Given the description of an element on the screen output the (x, y) to click on. 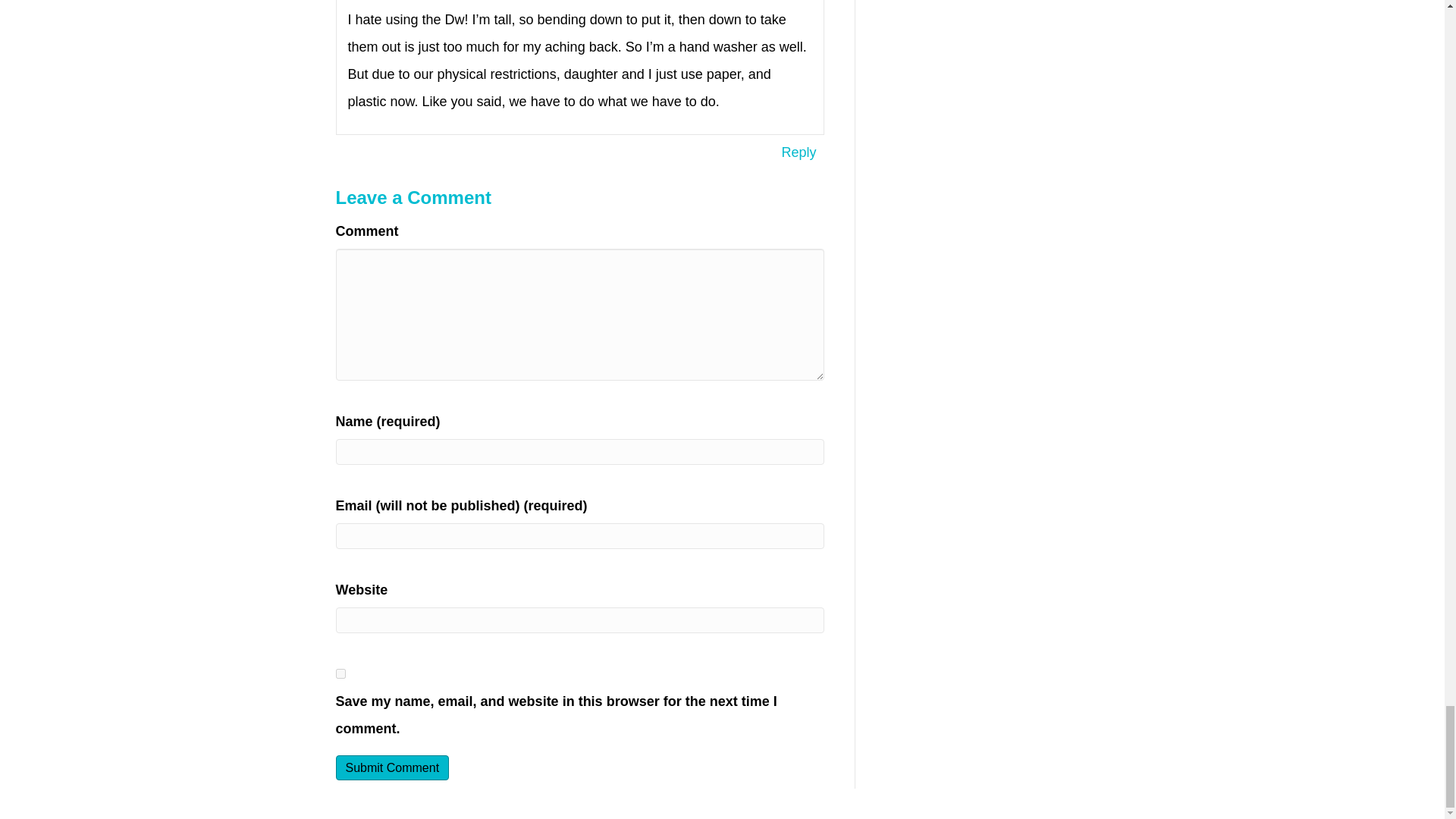
yes (339, 673)
Submit Comment (391, 767)
